Given the description of an element on the screen output the (x, y) to click on. 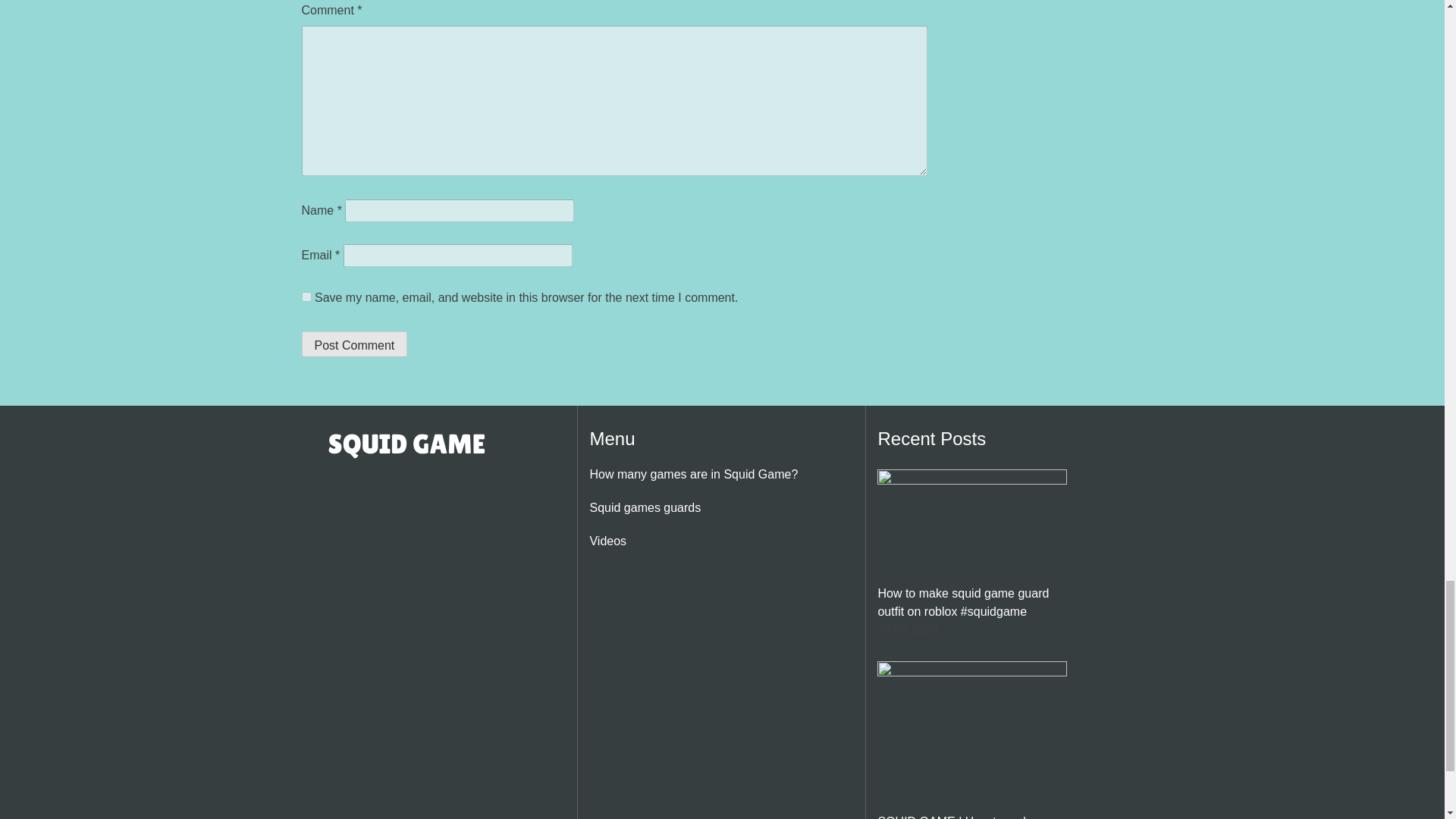
yes (306, 296)
Videos (607, 540)
How many games are in Squid Game? (693, 473)
Squid games guards (644, 507)
Post Comment (354, 344)
Post Comment (354, 344)
